Given the description of an element on the screen output the (x, y) to click on. 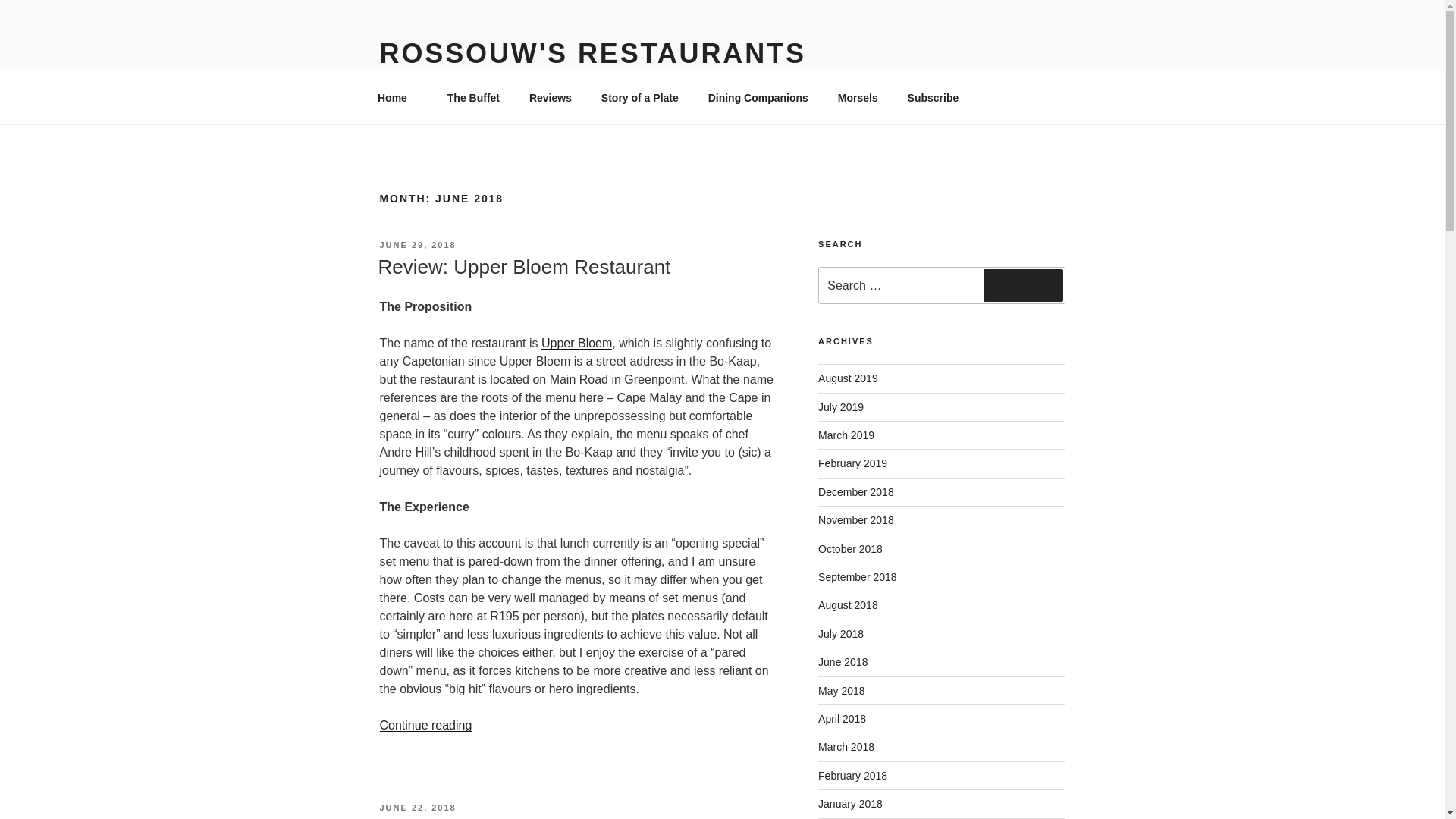
Review: Upper Bloem Restaurant (523, 266)
The Buffet (472, 97)
Home (397, 97)
JUNE 29, 2018 (416, 244)
Search (1023, 285)
Upper Bloem (576, 342)
Morsels (857, 97)
ROSSOUW'S RESTAURANTS (591, 52)
Reviews (550, 97)
